Given the description of an element on the screen output the (x, y) to click on. 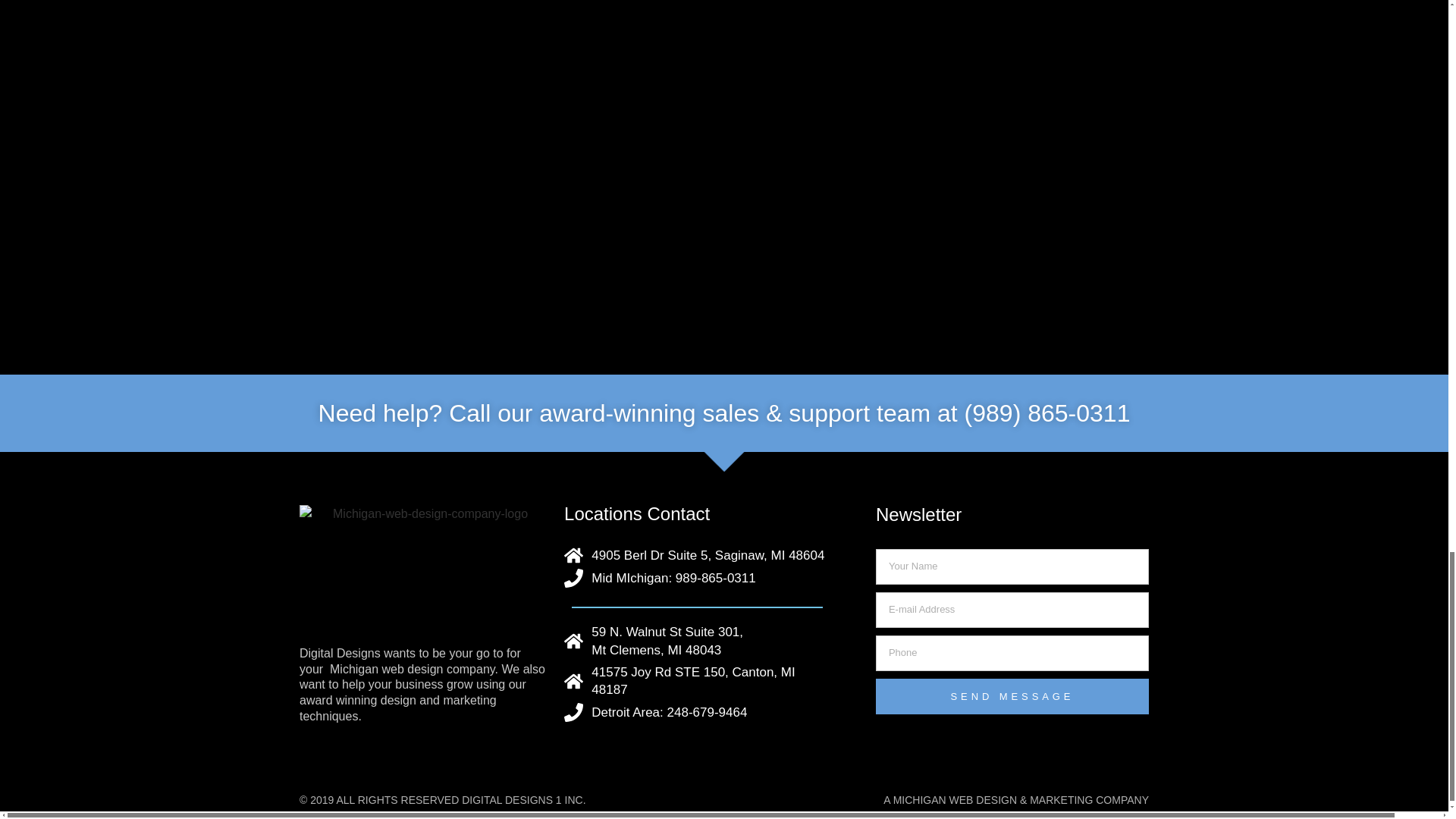
SEND MESSAGE (1012, 696)
41575 Joy Rd STE 150, Canton, MI 48187 (696, 681)
Detroit Area: 248-679-9464 (696, 711)
4905 Berl Dr Suite 5, Saginaw, MI 48604 (696, 555)
Mid MIchigan: 989-865-0311 (696, 578)
